Given the description of an element on the screen output the (x, y) to click on. 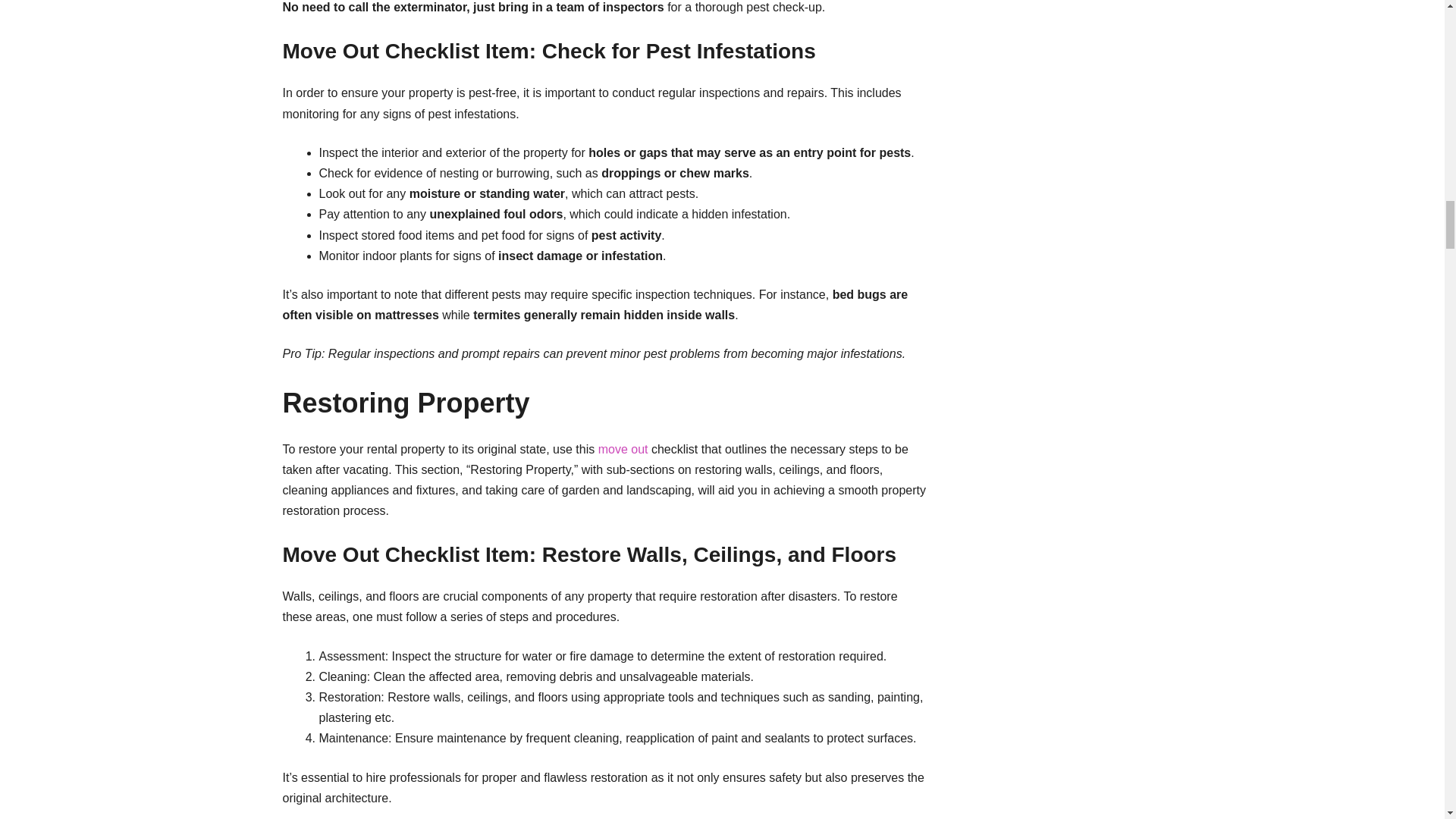
move out (622, 449)
